Given the description of an element on the screen output the (x, y) to click on. 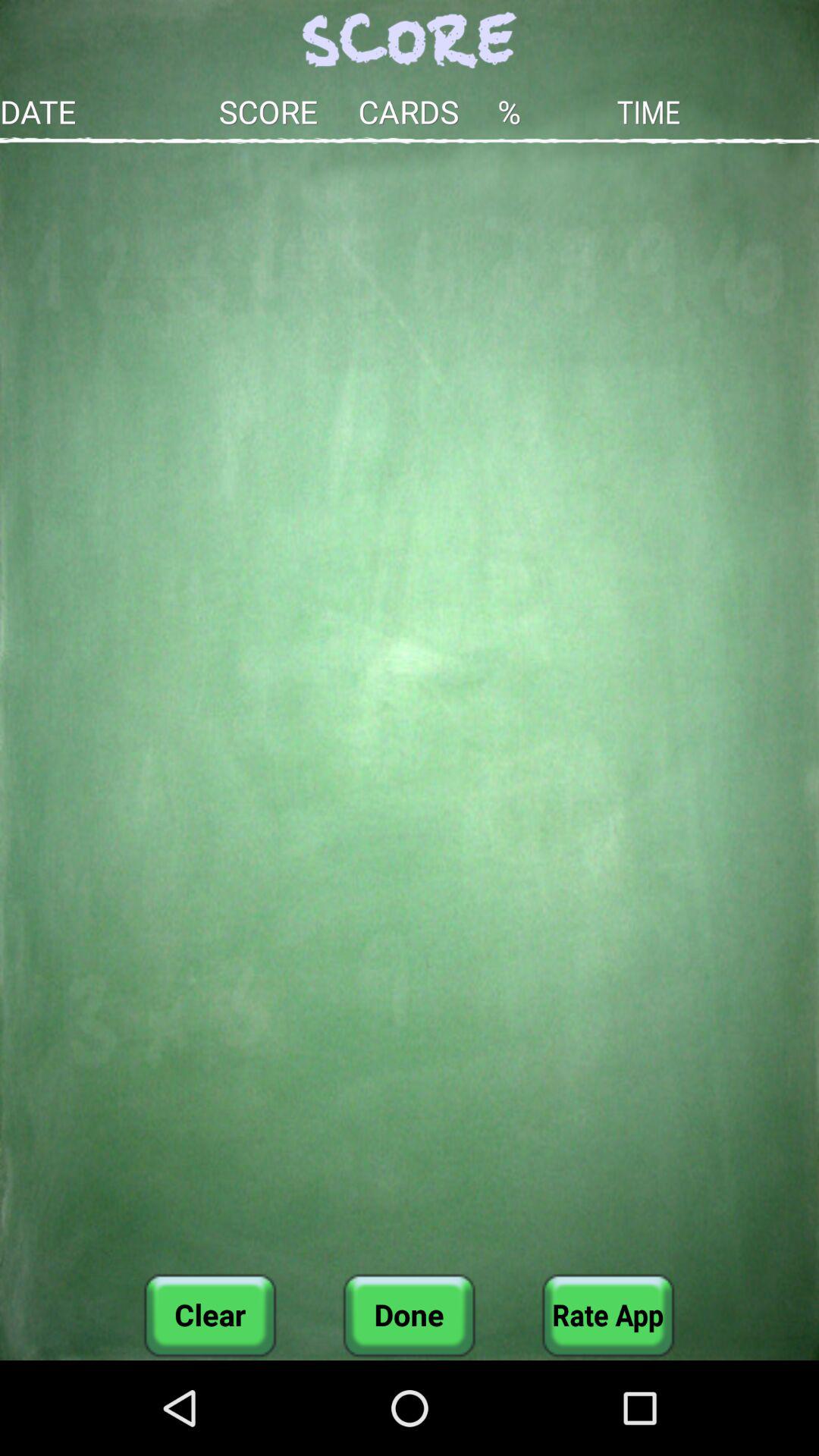
flip until the clear item (209, 1315)
